Given the description of an element on the screen output the (x, y) to click on. 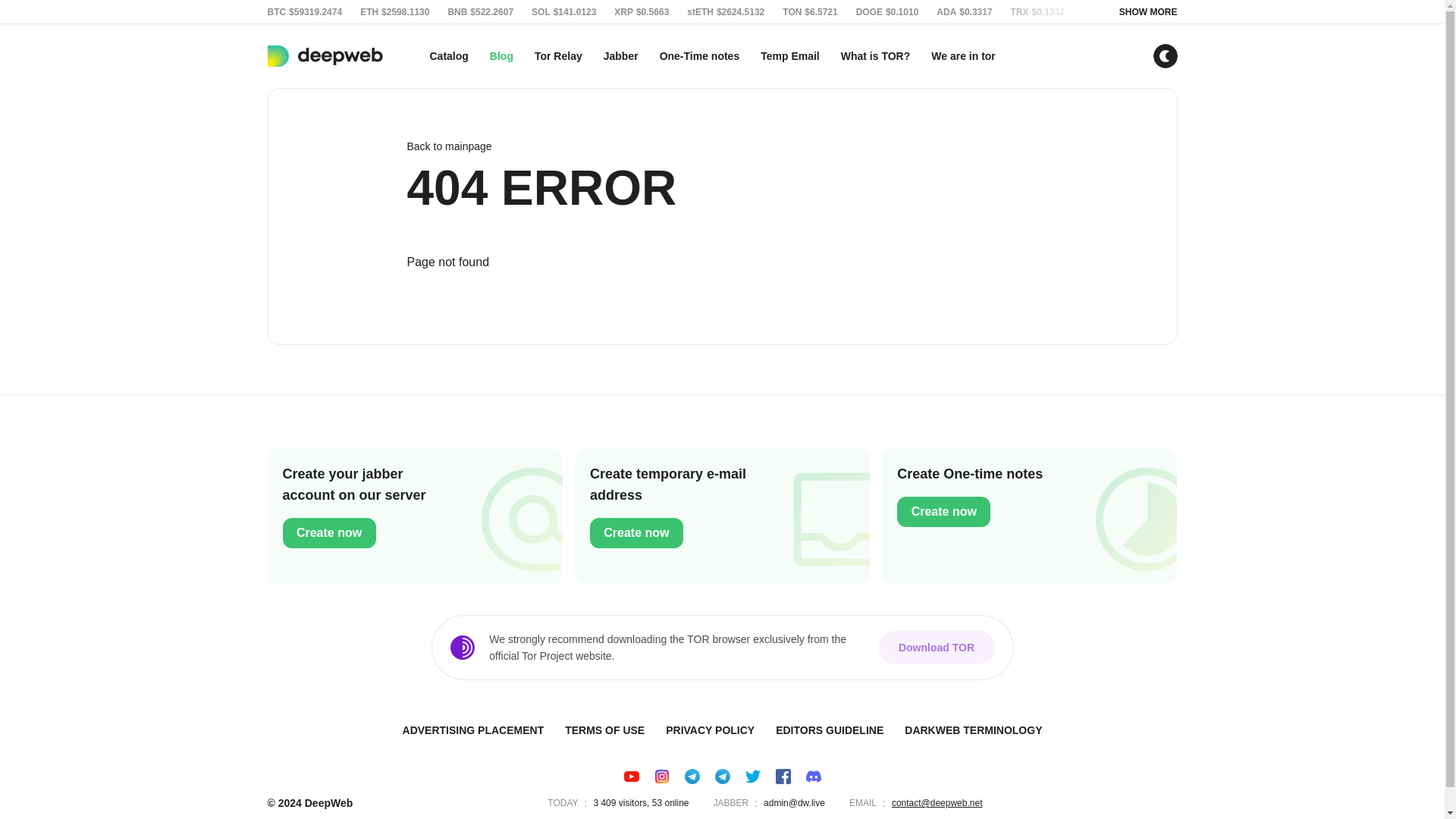
Jabber (620, 56)
One-Time notes (700, 56)
Discord (813, 776)
Back to mainpage (721, 146)
PocketDarkBot (691, 776)
Create now (328, 532)
Tor Relay (558, 56)
What is TOR? (875, 56)
Create now (635, 532)
